Given the description of an element on the screen output the (x, y) to click on. 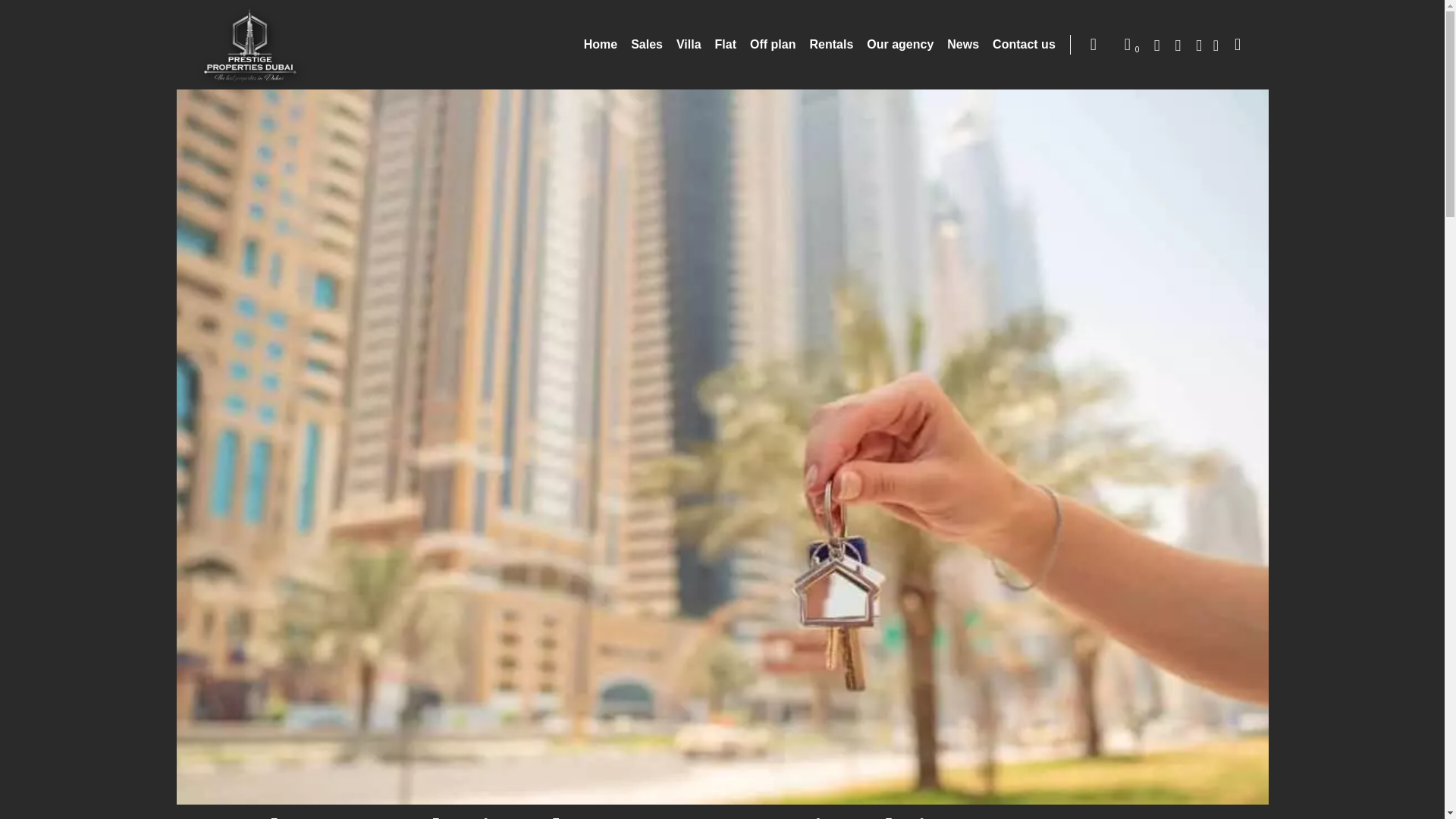
Rentals (831, 43)
News (962, 43)
Flat (725, 43)
Contact us (1023, 43)
Sales (646, 43)
Home (600, 43)
Off plan (771, 43)
Villa (689, 43)
Our agency (899, 43)
